Given the description of an element on the screen output the (x, y) to click on. 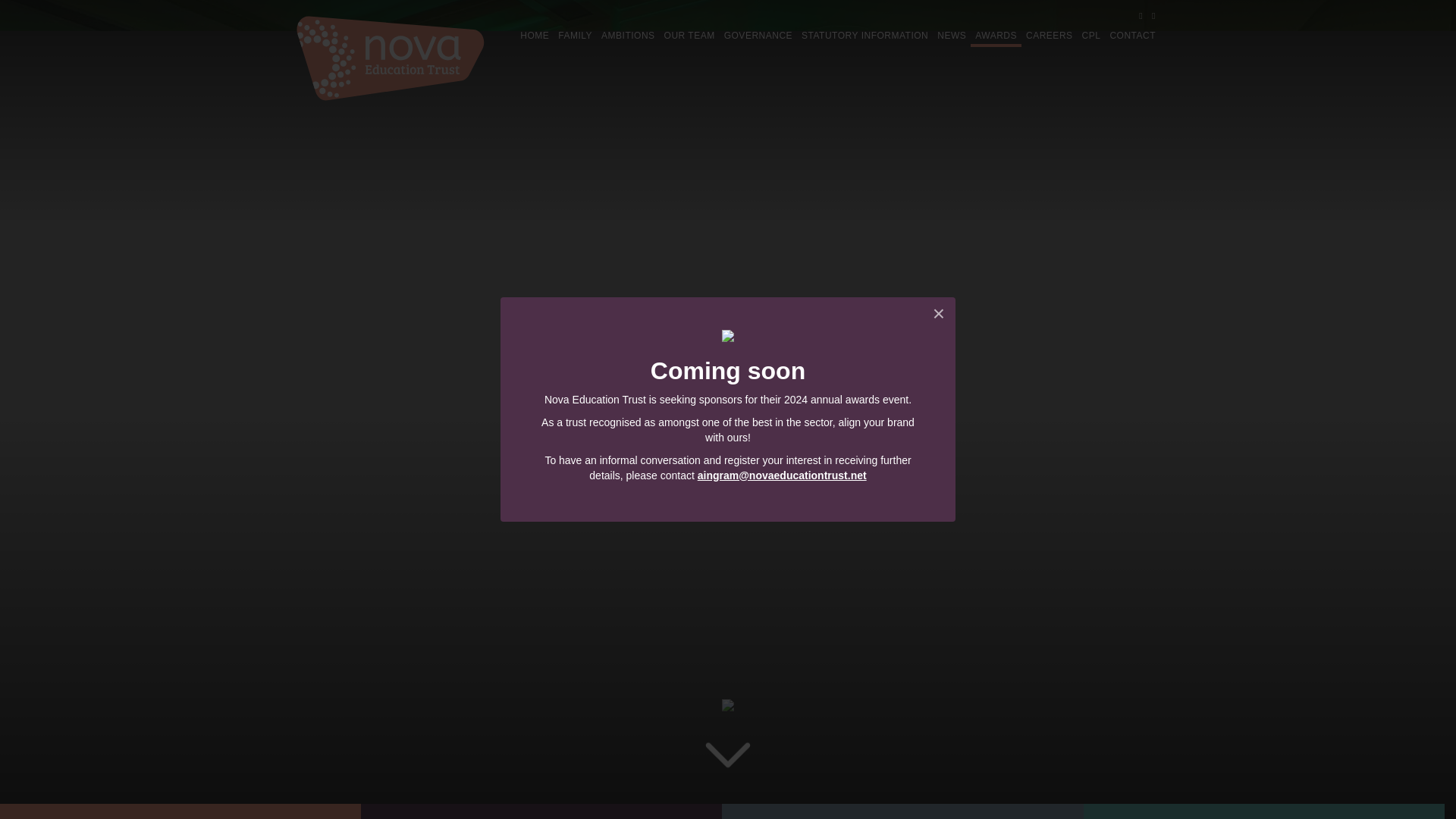
STATUTORY INFORMATION (864, 36)
AWARDS (996, 36)
CONTACT (1132, 36)
FAMILY (574, 36)
OUR TEAM (689, 36)
AMBITIONS (627, 36)
HOME (534, 36)
GOVERNANCE (757, 36)
NEWS (952, 36)
CPL (1091, 36)
